Given the description of an element on the screen output the (x, y) to click on. 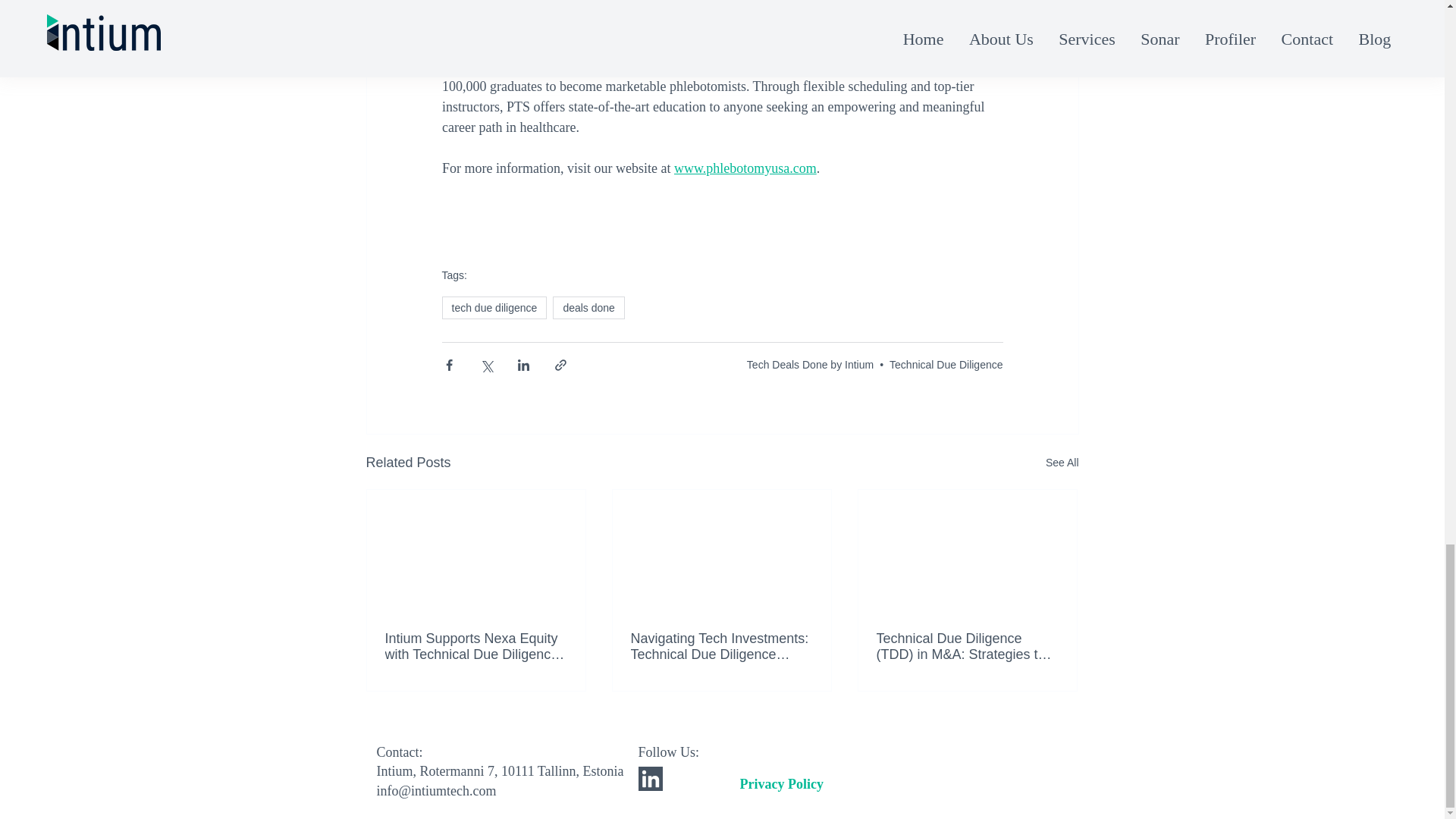
Technical Due Diligence (946, 364)
tech due diligence (494, 307)
Tech Deals Done by Intium (809, 364)
deals done (588, 307)
Contact: (398, 752)
See All (1061, 463)
www.phlebotomyusa.com (743, 168)
